Given the description of an element on the screen output the (x, y) to click on. 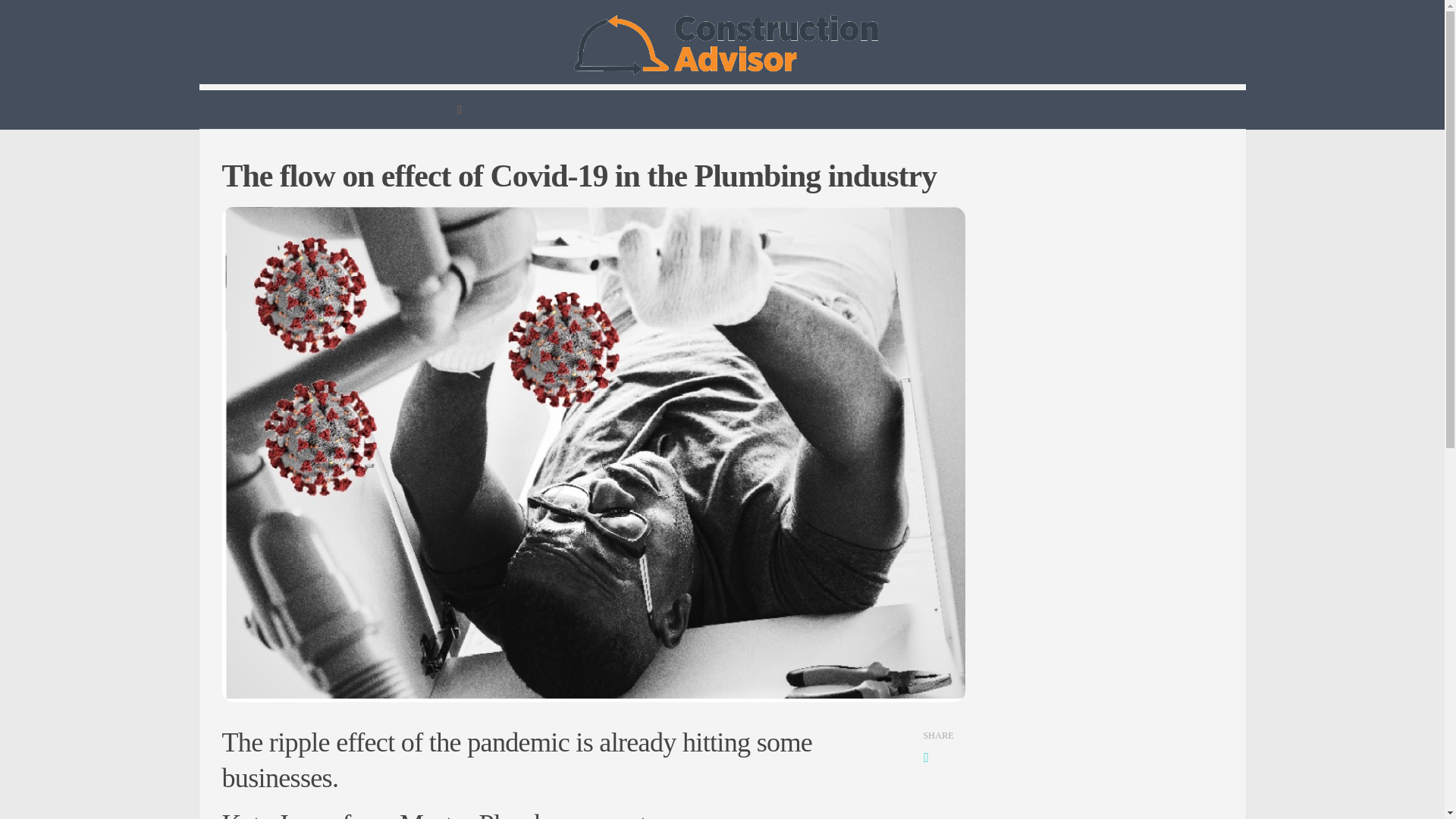
Skip to content (59, 20)
Our Services (335, 108)
Wellbeing (427, 109)
Contact Us (515, 108)
About Us (248, 108)
